Given the description of an element on the screen output the (x, y) to click on. 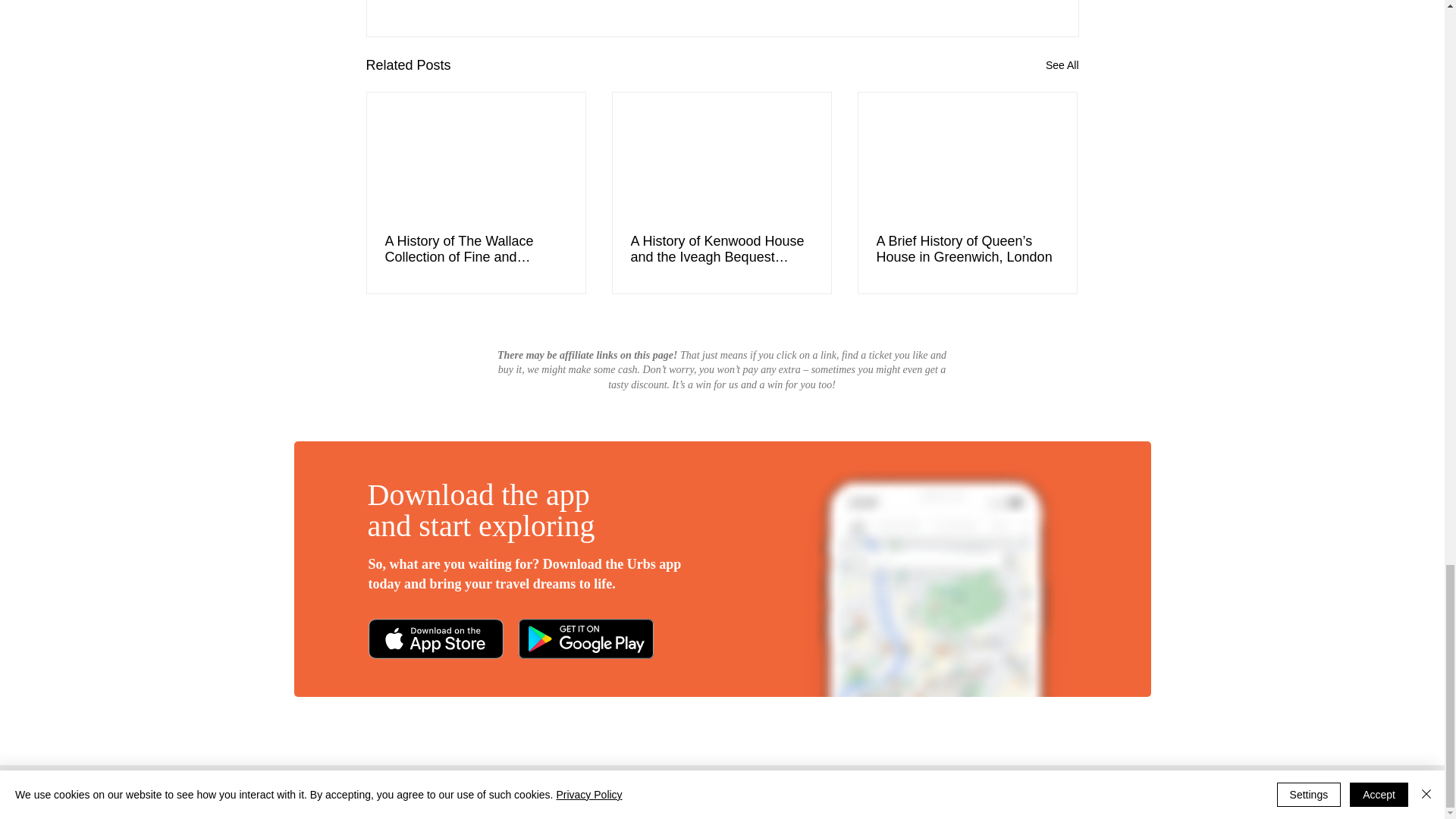
See All (1061, 65)
